Given the description of an element on the screen output the (x, y) to click on. 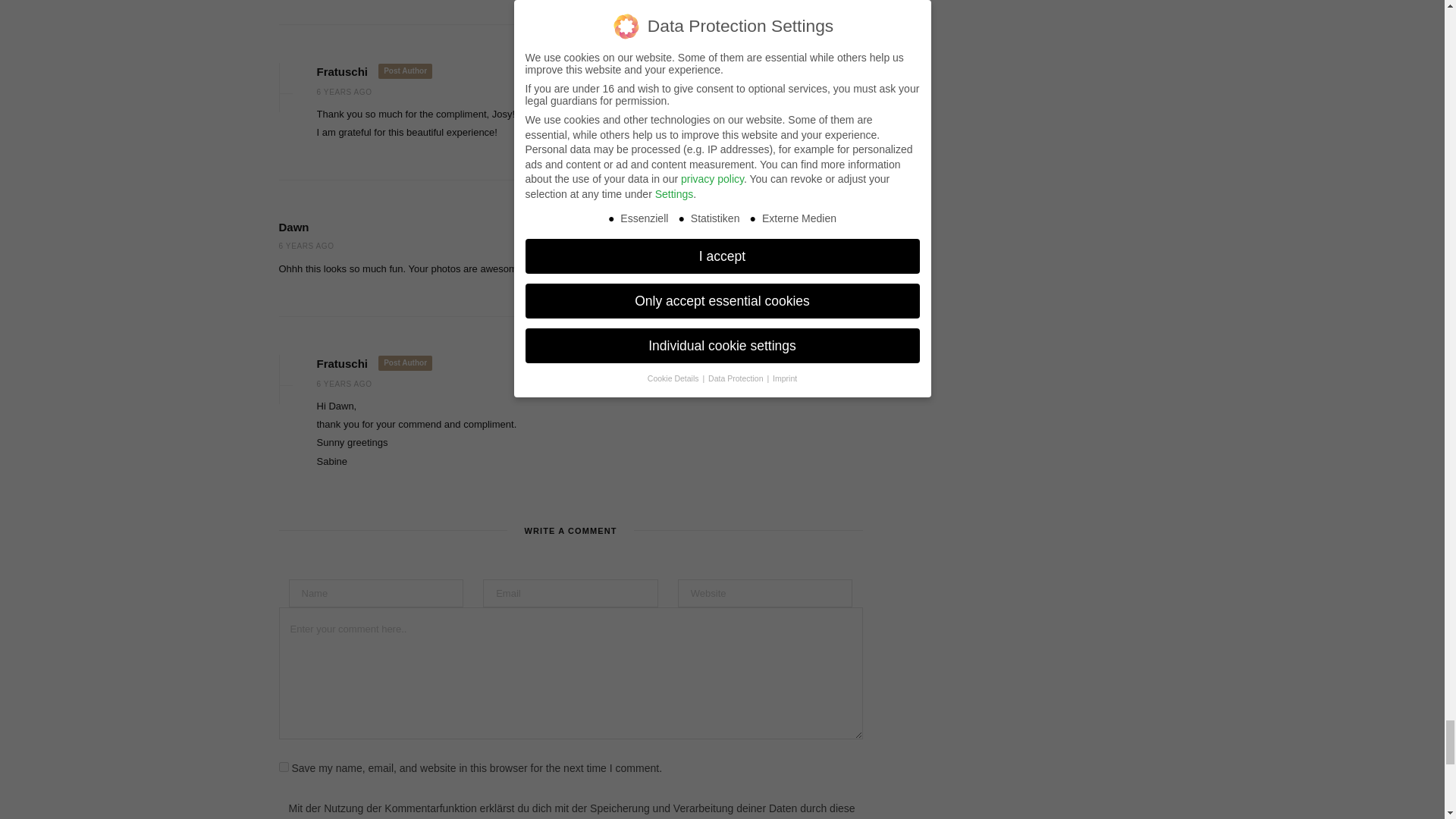
yes (283, 767)
